Given the description of an element on the screen output the (x, y) to click on. 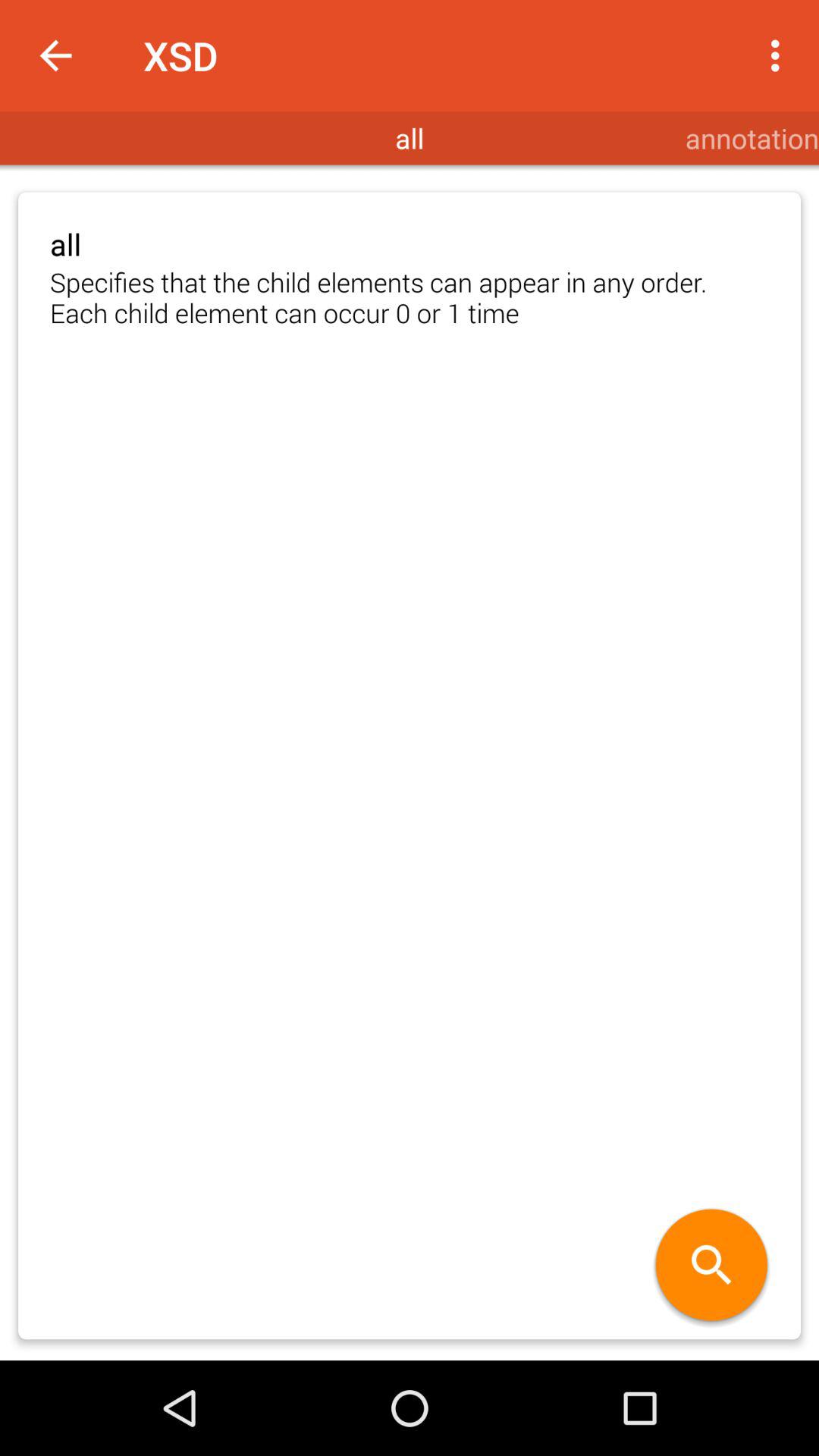
turn on the item below specifies that the item (711, 1266)
